Given the description of an element on the screen output the (x, y) to click on. 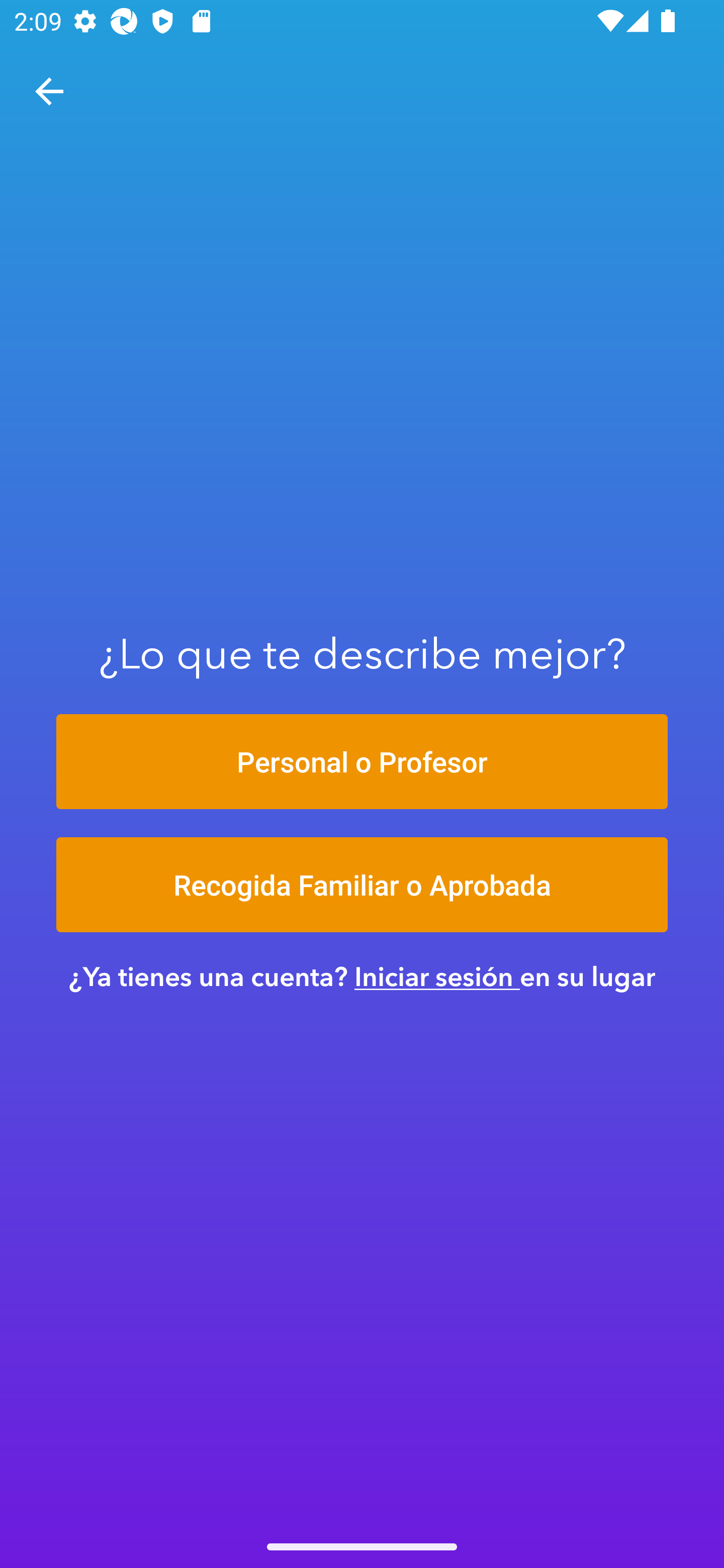
Navegar hacia arriba (49, 91)
Personal o Profesor (361, 761)
Recogida Familiar o Aprobada (361, 884)
¿Ya tienes una cuenta? Iniciar sesión en su lugar (361, 975)
